Given the description of an element on the screen output the (x, y) to click on. 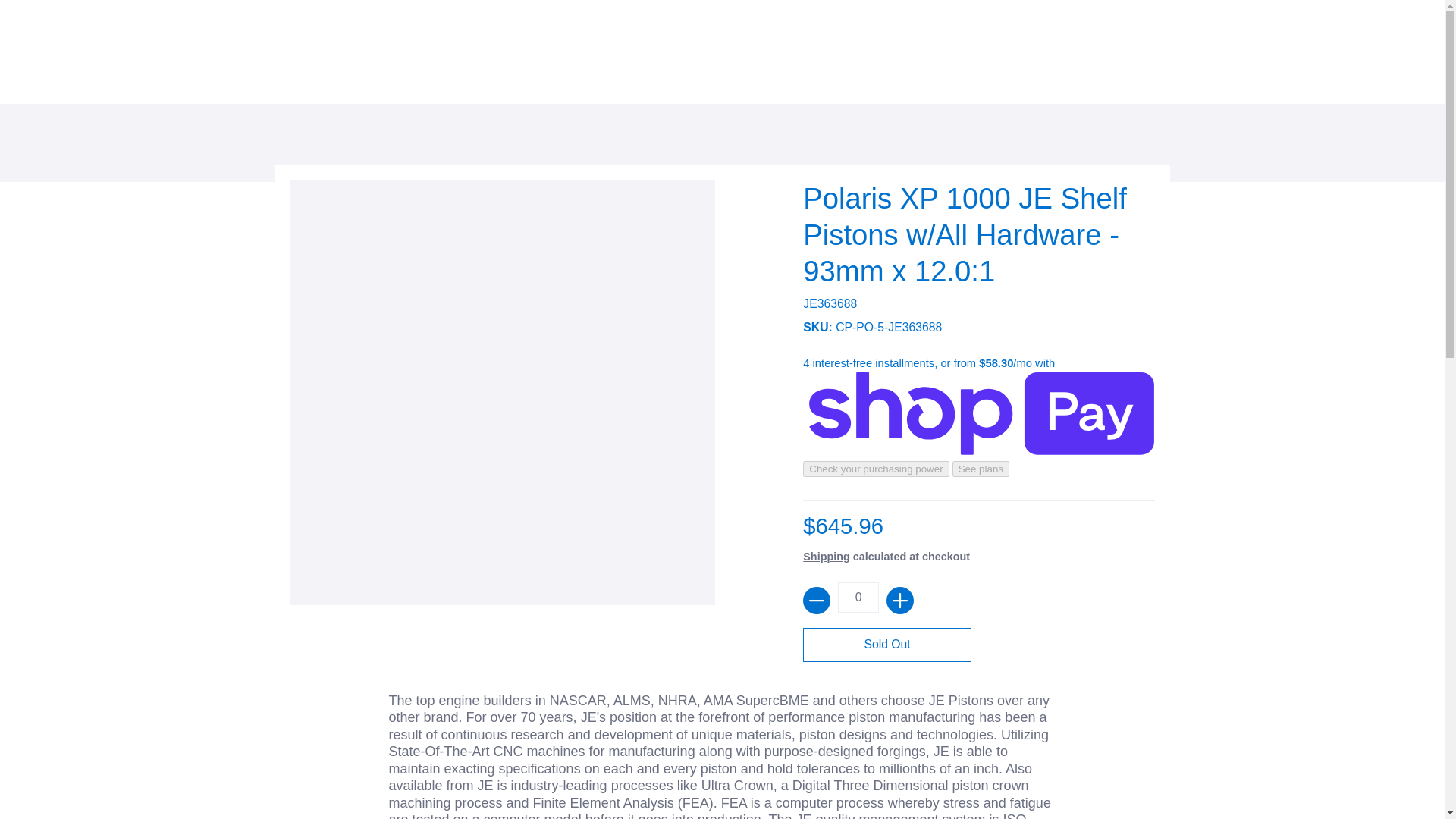
Sold Out (887, 644)
0 (858, 597)
Shipping (826, 556)
